Given the description of an element on the screen output the (x, y) to click on. 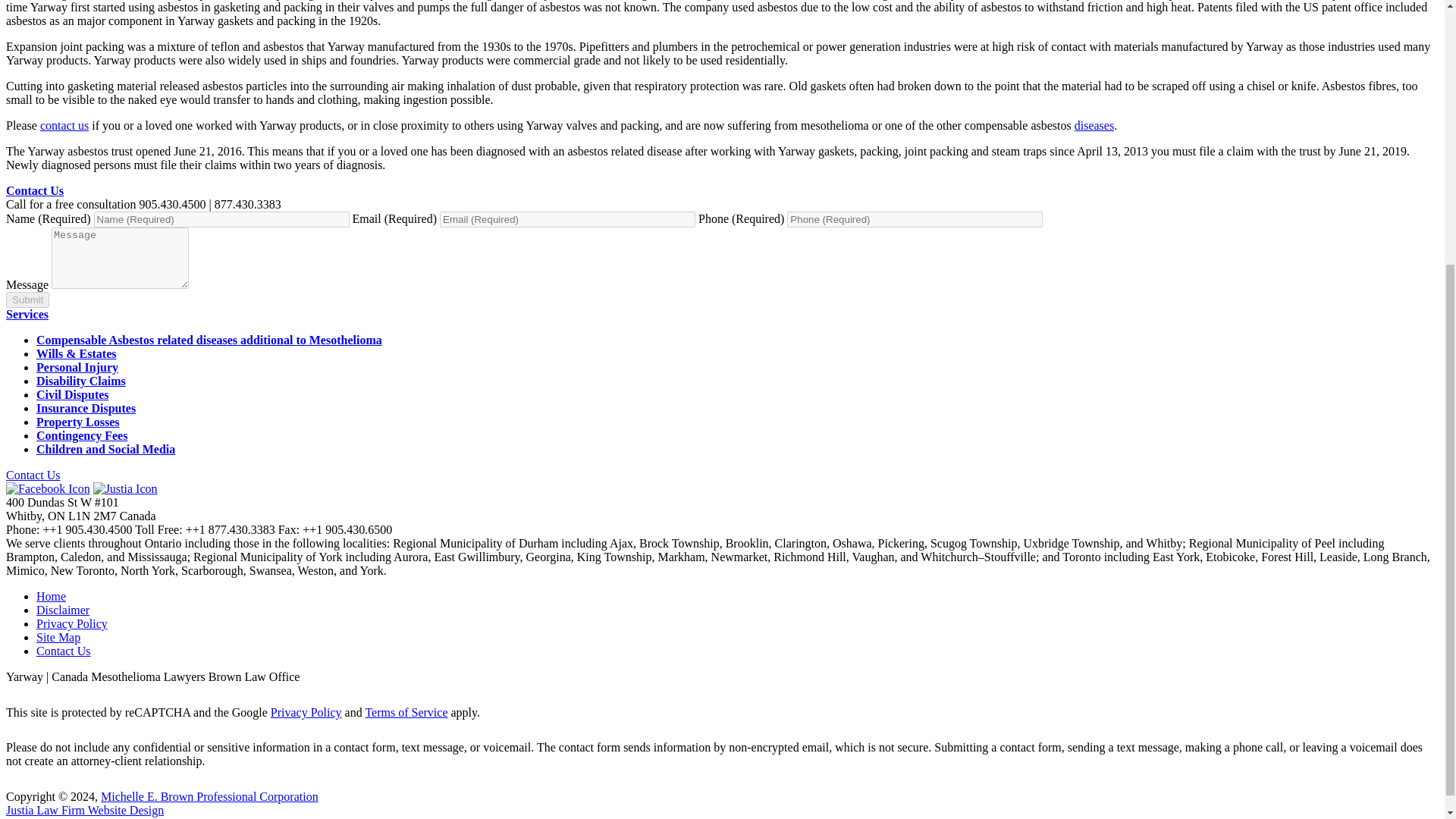
Civil Disputes (72, 394)
Privacy Policy (306, 712)
Contact Us (63, 650)
Site Map (58, 636)
Property Losses (77, 421)
Michelle E. Brown Professional Corporation (209, 796)
Terms of Service (405, 712)
Contact Us (33, 474)
Submit (27, 299)
Contingency Fees (82, 435)
diseases (1093, 124)
Contact Us (34, 190)
contact us (64, 124)
Disability Claims (80, 380)
